Given the description of an element on the screen output the (x, y) to click on. 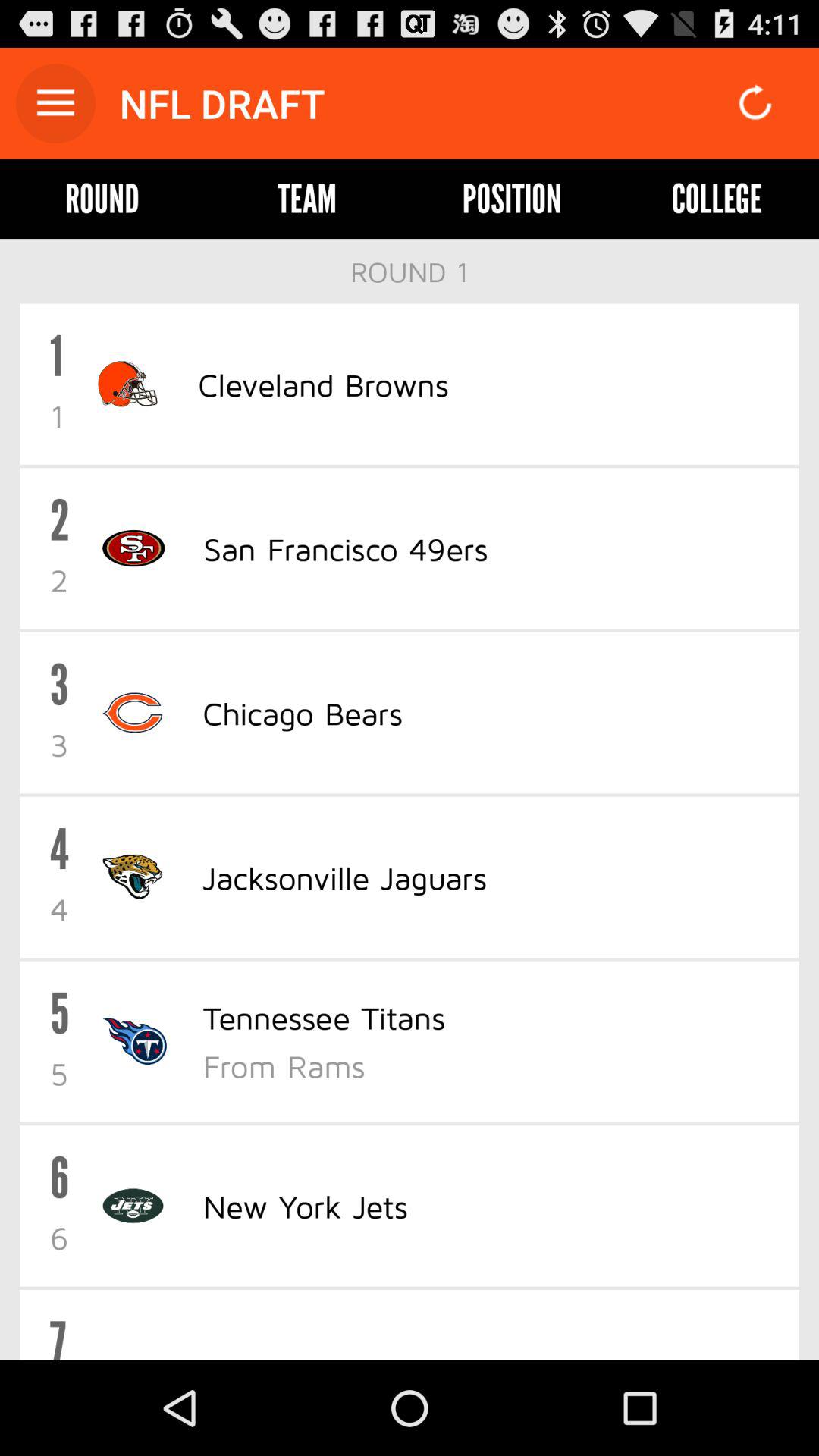
scroll until the from rams icon (491, 1065)
